Given the description of an element on the screen output the (x, y) to click on. 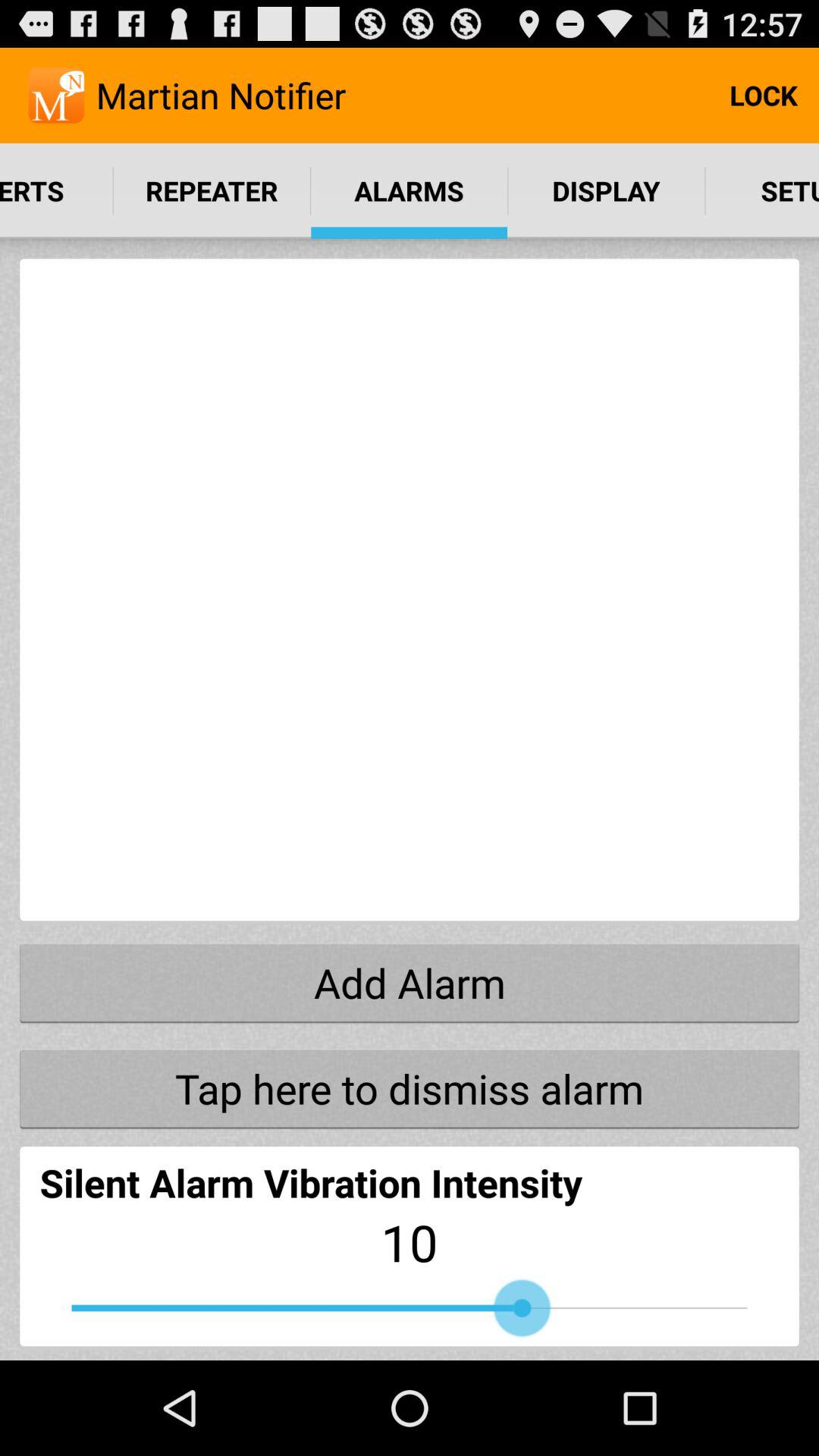
choose the lock icon (763, 95)
